Given the description of an element on the screen output the (x, y) to click on. 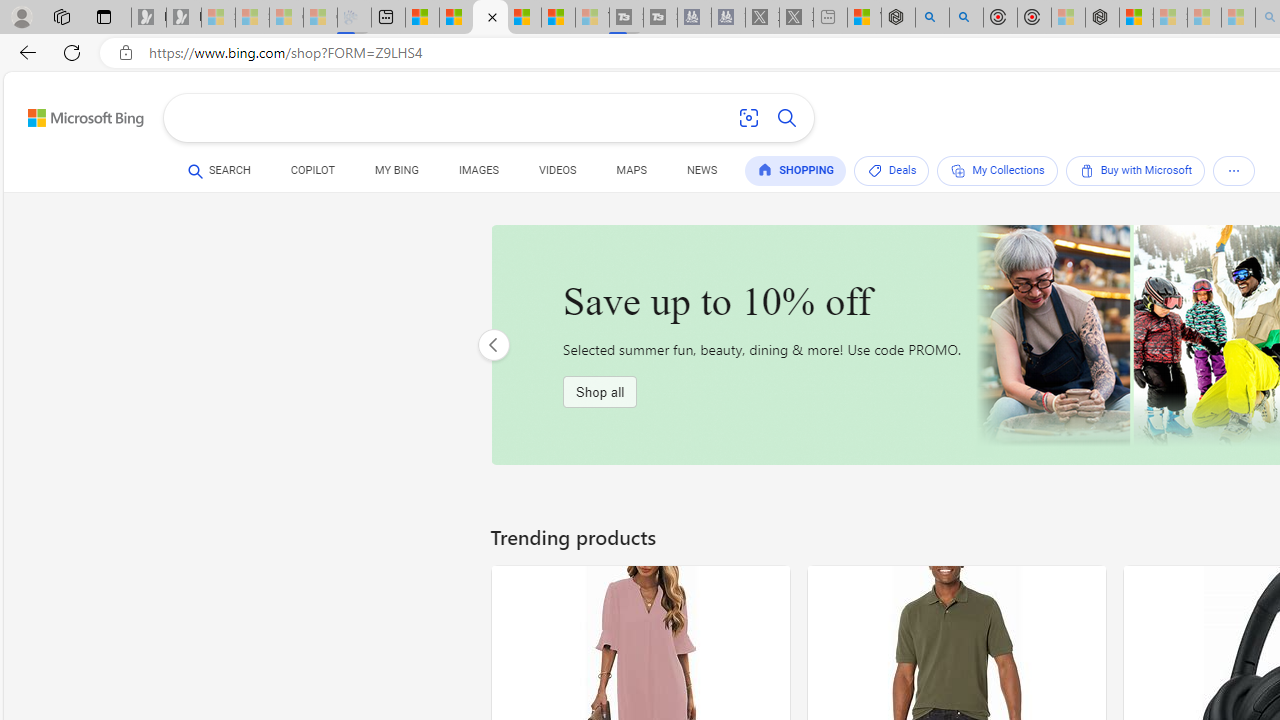
See more (1234, 171)
Search (786, 117)
IMAGES (478, 173)
MAPS (631, 173)
Microsoft Start (557, 17)
Buy with Microsoft (1135, 170)
IMAGES (478, 170)
View site information (125, 53)
COPILOT (311, 173)
Search button (786, 117)
Back (24, 52)
